Given the description of an element on the screen output the (x, y) to click on. 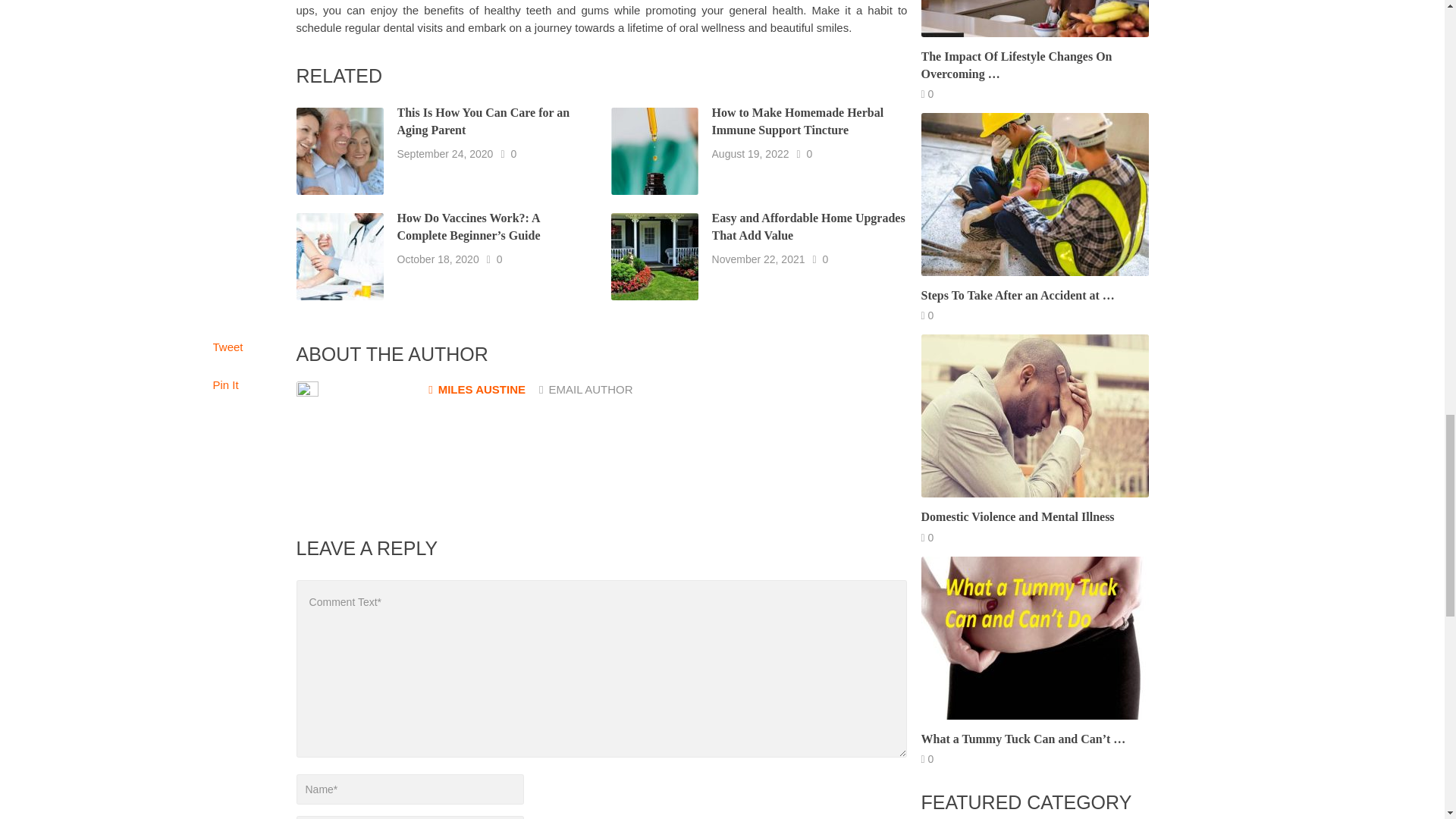
Easy and Affordable Home Upgrades That Add Value (808, 226)
How to Make Homemade Herbal Immune Support Tincture (797, 121)
This Is How You Can Care for an Aging Parent (483, 121)
